Given the description of an element on the screen output the (x, y) to click on. 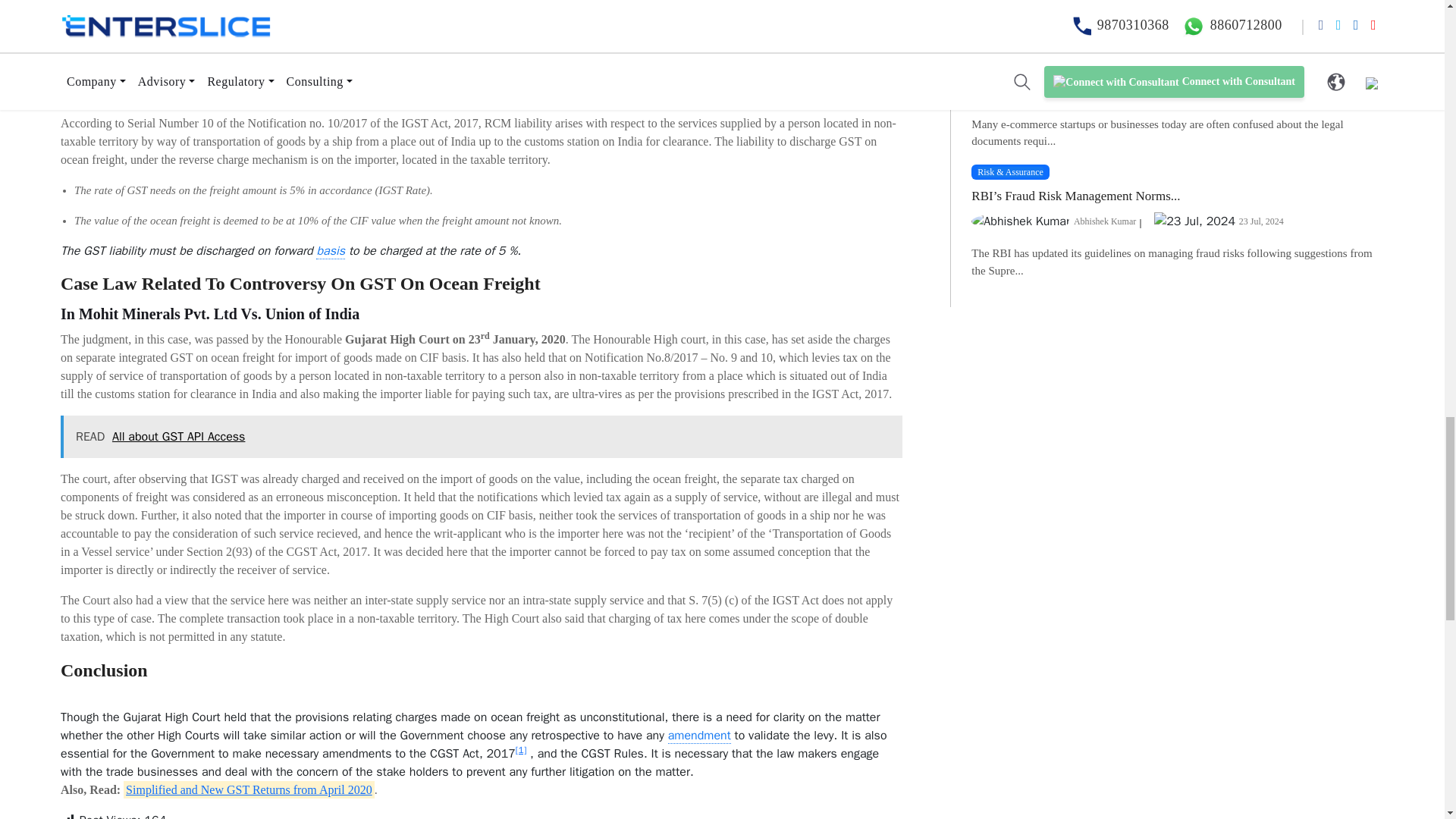
Posts by Abhishek Kumar (1104, 91)
Posts by Abhishek Kumar (1104, 221)
